Given the description of an element on the screen output the (x, y) to click on. 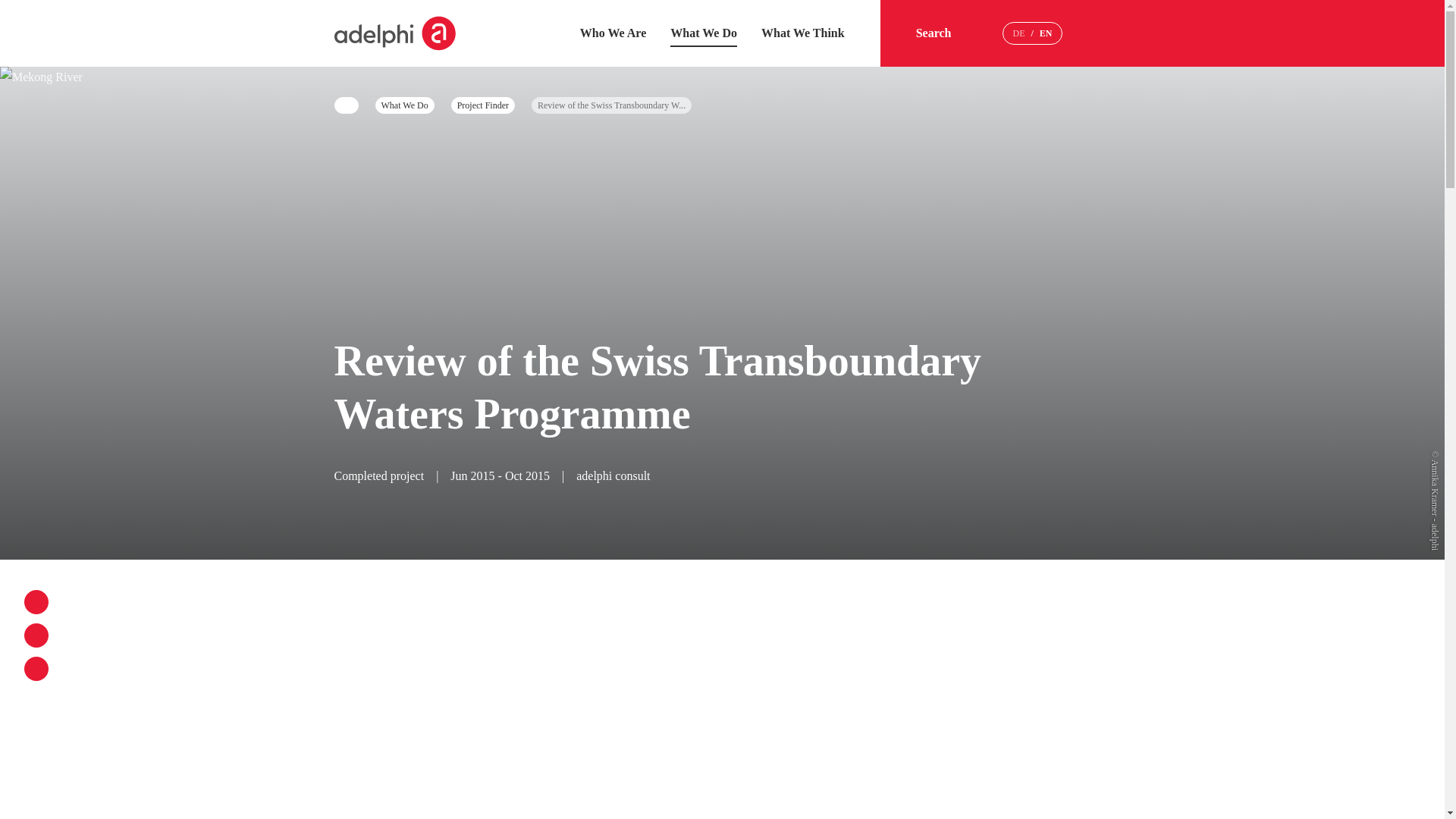
DE (1018, 32)
EN (1045, 32)
What We Do (702, 32)
Search (946, 33)
Home (394, 33)
Menu (1097, 33)
Deutsch (1018, 32)
What We Think (802, 32)
English (1045, 32)
Who We Are (612, 32)
